Given the description of an element on the screen output the (x, y) to click on. 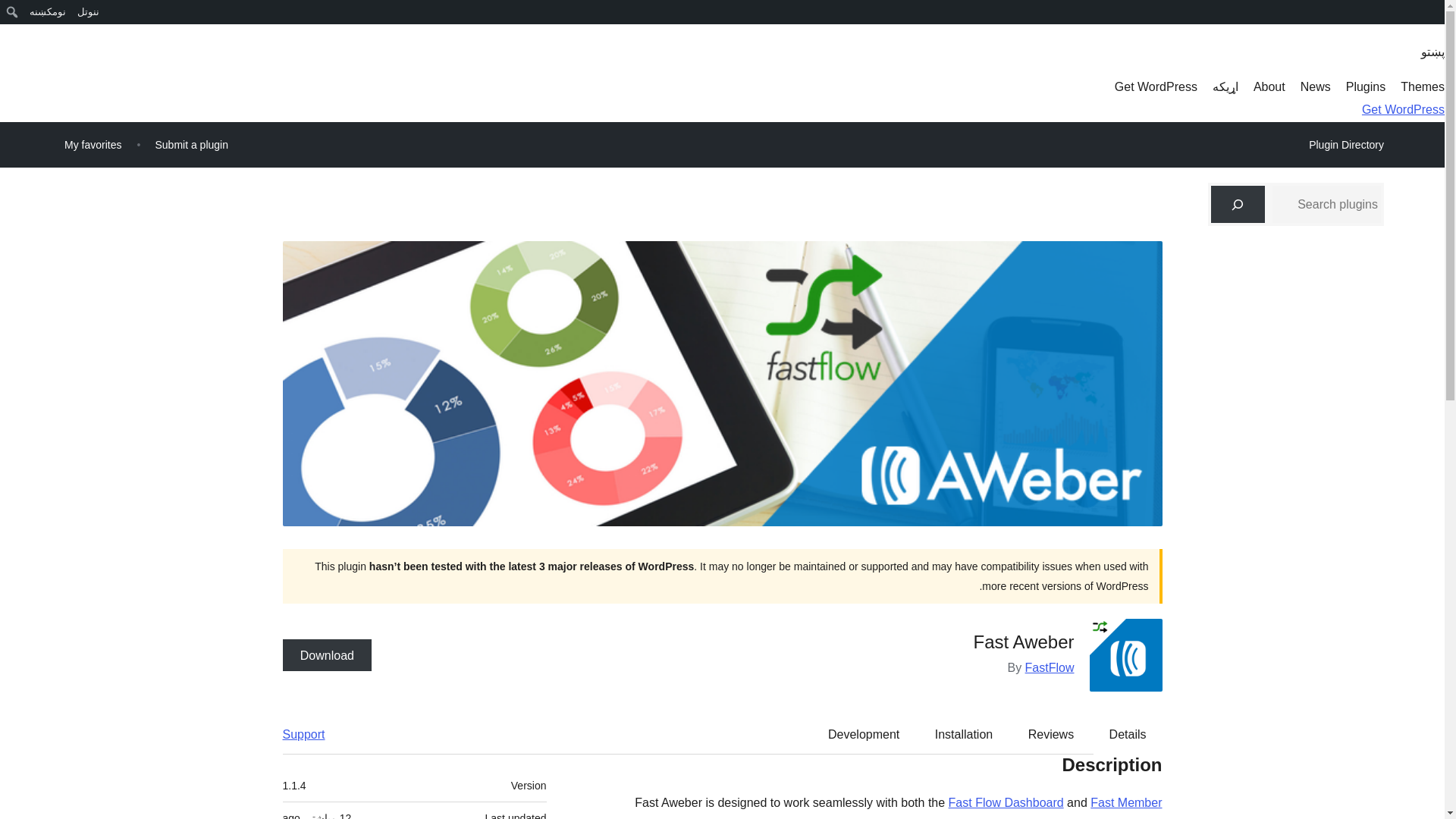
Installation (964, 733)
Development (863, 733)
Download (326, 654)
Fast Member (1125, 802)
Plugin Directory (1345, 144)
Details (1127, 733)
FastFlow (1049, 667)
Plugins (1365, 87)
Reviews (1051, 733)
Fast Flow Dashboard (1006, 802)
My favorites (93, 144)
About (1269, 87)
News (1315, 87)
Get WordPress (1155, 87)
Support (310, 733)
